Given the description of an element on the screen output the (x, y) to click on. 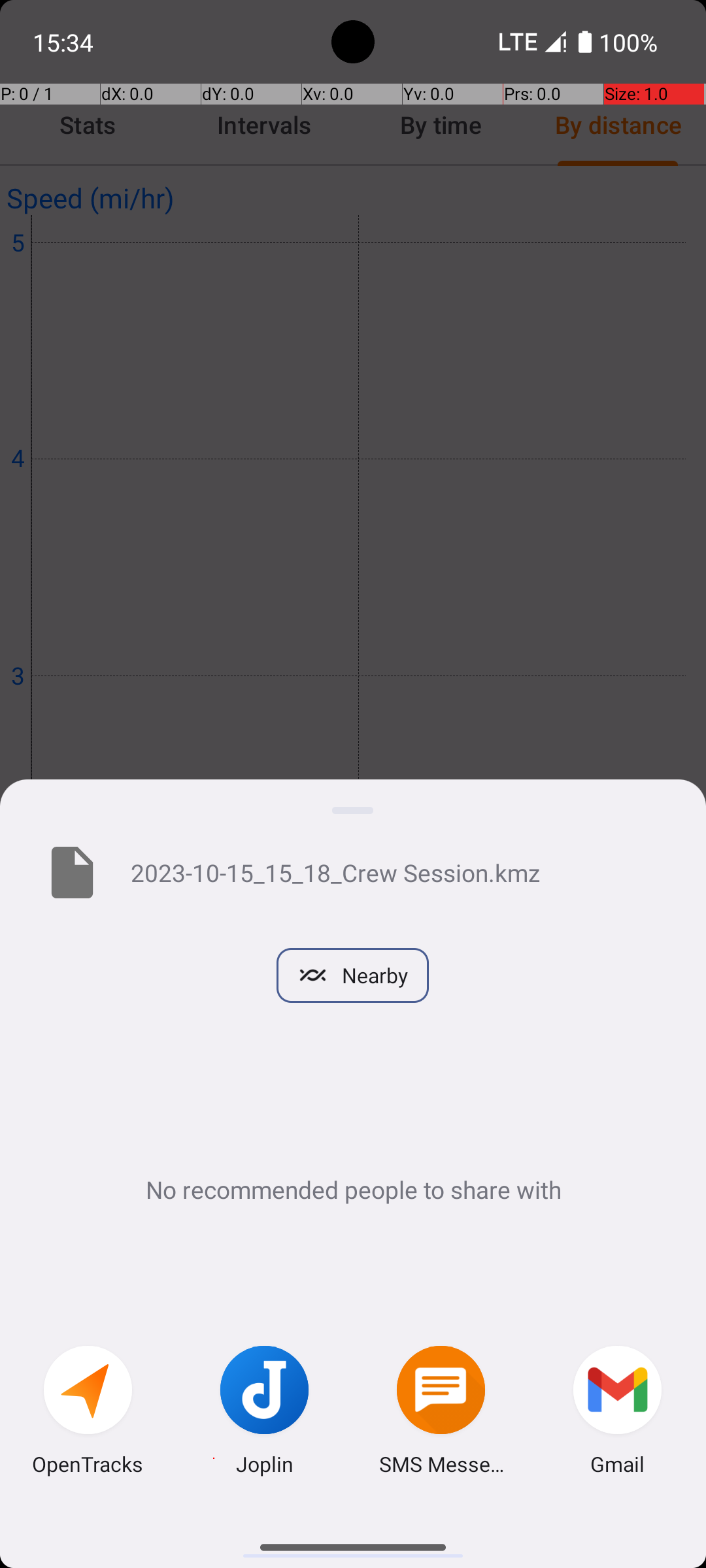
2023-10-15_15_18_Crew Session.kmz Element type: android.widget.TextView (397, 872)
